Given the description of an element on the screen output the (x, y) to click on. 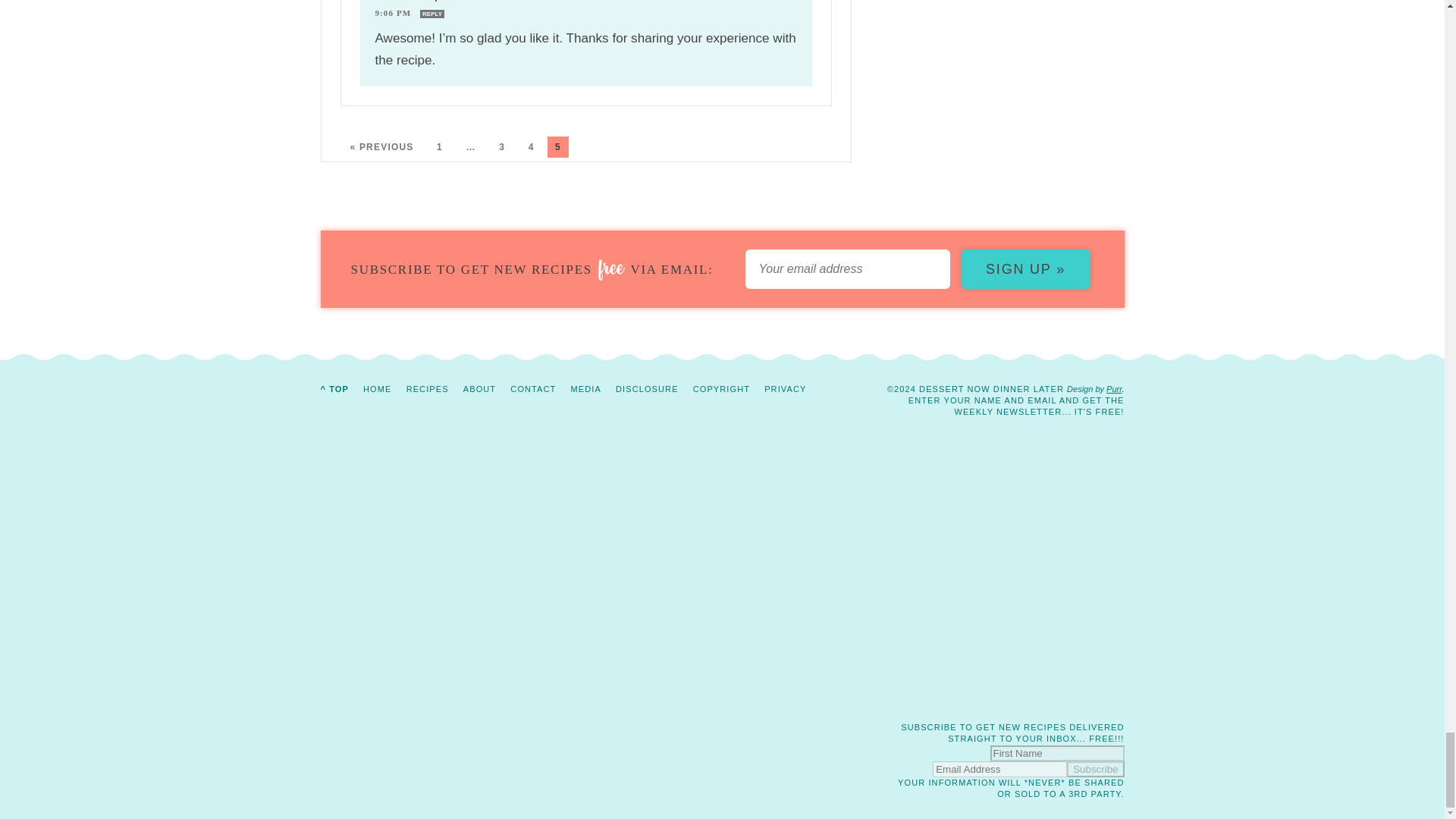
Subscribe (1095, 769)
